Given the description of an element on the screen output the (x, y) to click on. 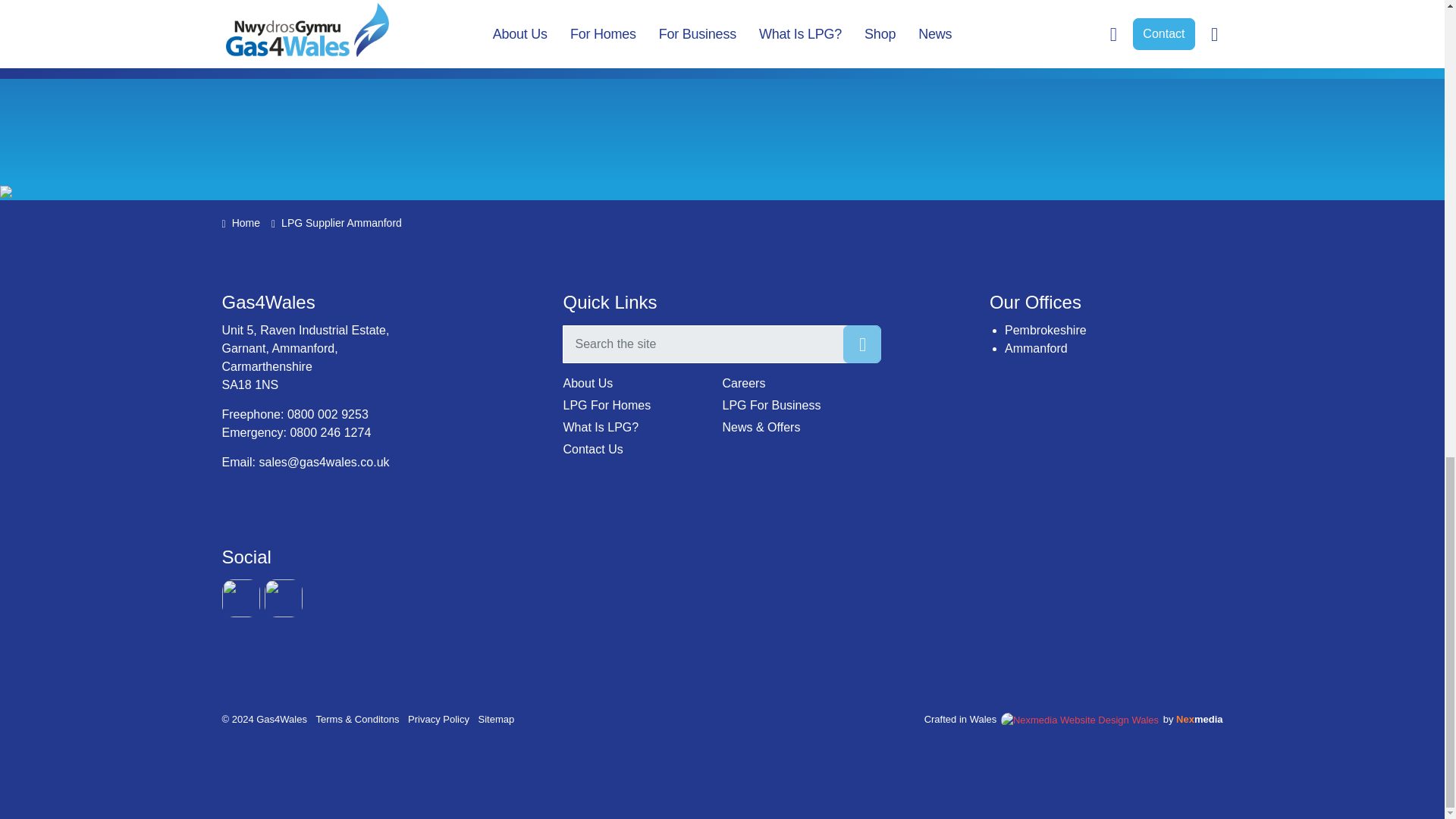
Contact Us (642, 449)
LPG For Homes (642, 405)
LPG For Business (801, 405)
Home (240, 223)
Nexmedia (1199, 718)
Sitemap (497, 718)
Privacy Policy (437, 718)
What Is LPG? (642, 427)
LPG Supplier Ammanford (1035, 348)
Ammanford (1035, 348)
